Given the description of an element on the screen output the (x, y) to click on. 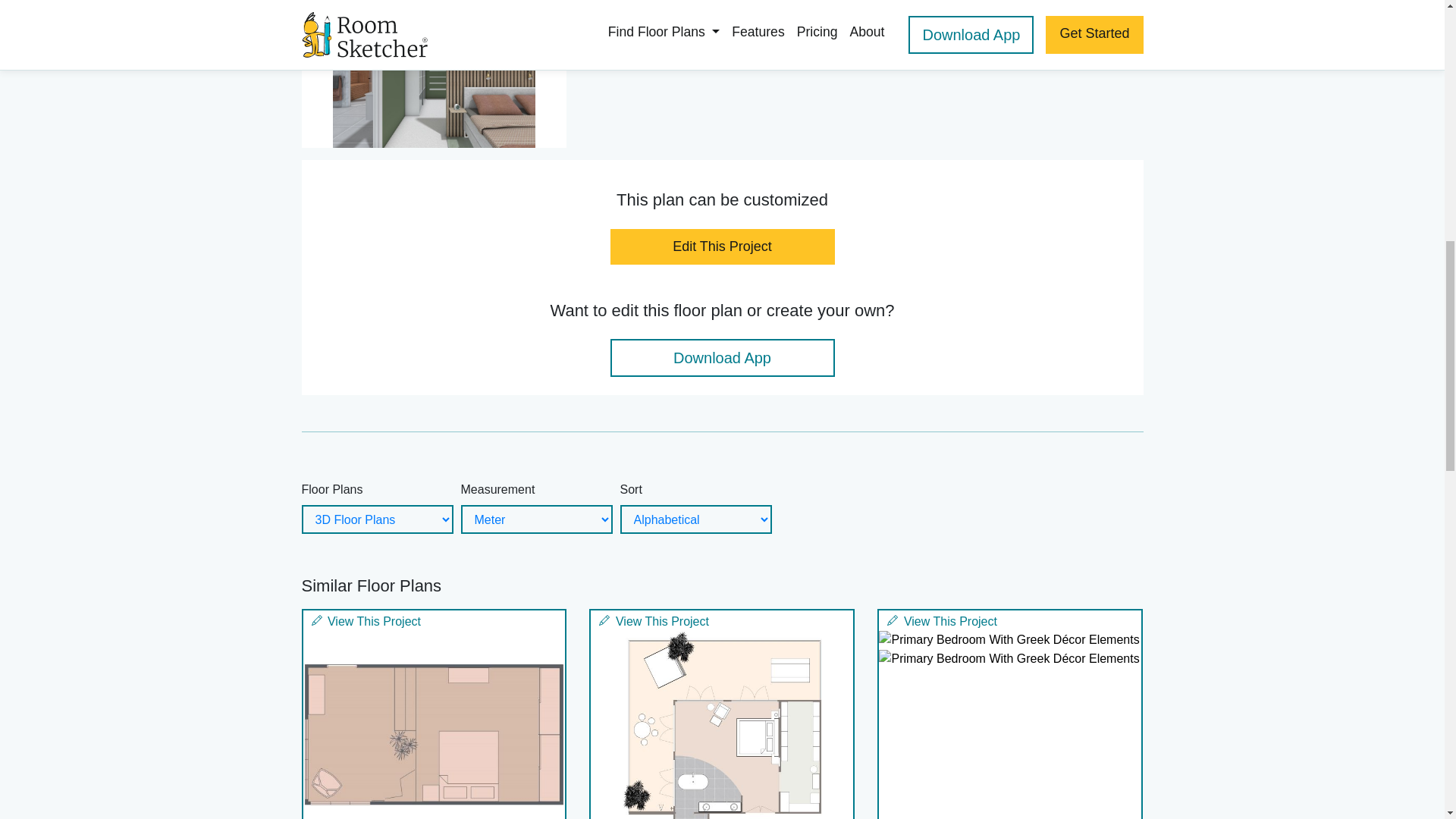
360 View (434, 74)
Edit This Project (722, 246)
View This Project (722, 620)
View This Project (1010, 620)
Spacious Bedroom Layout (434, 724)
View This Project (434, 620)
Download App (722, 357)
Luxury Primary Bedroom Design (722, 724)
